Given the description of an element on the screen output the (x, y) to click on. 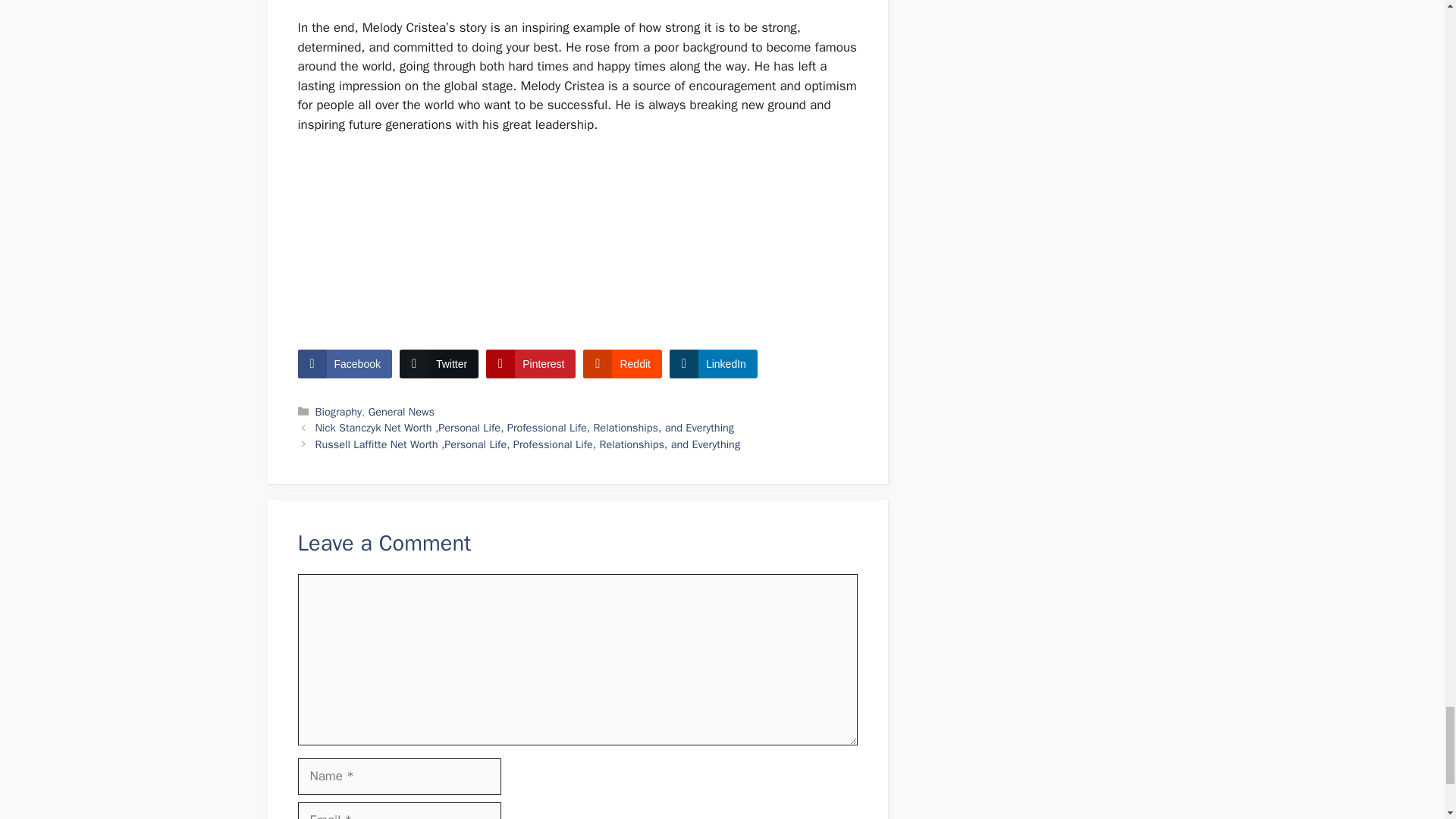
Twitter (438, 363)
Facebook (344, 363)
Pinterest (530, 363)
